Given the description of an element on the screen output the (x, y) to click on. 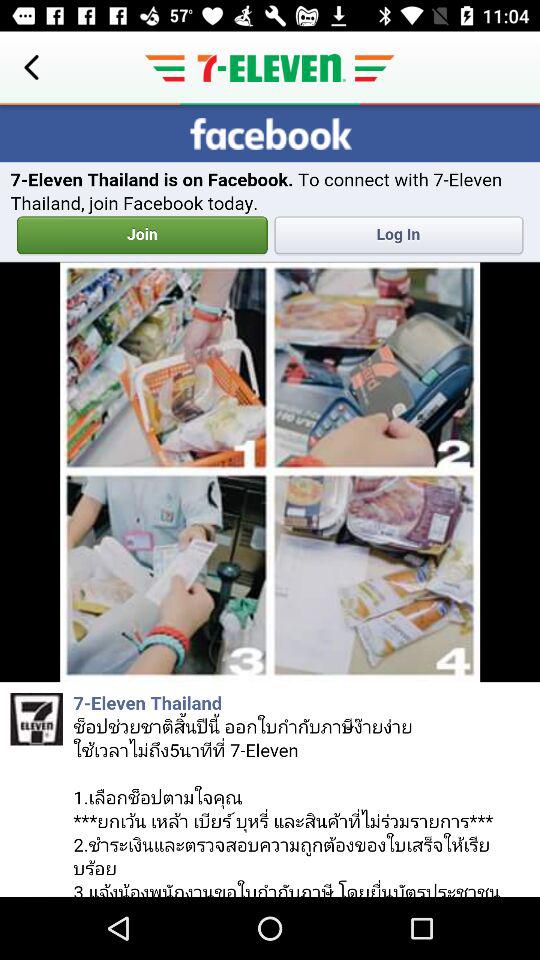
go back (31, 68)
